Given the description of an element on the screen output the (x, y) to click on. 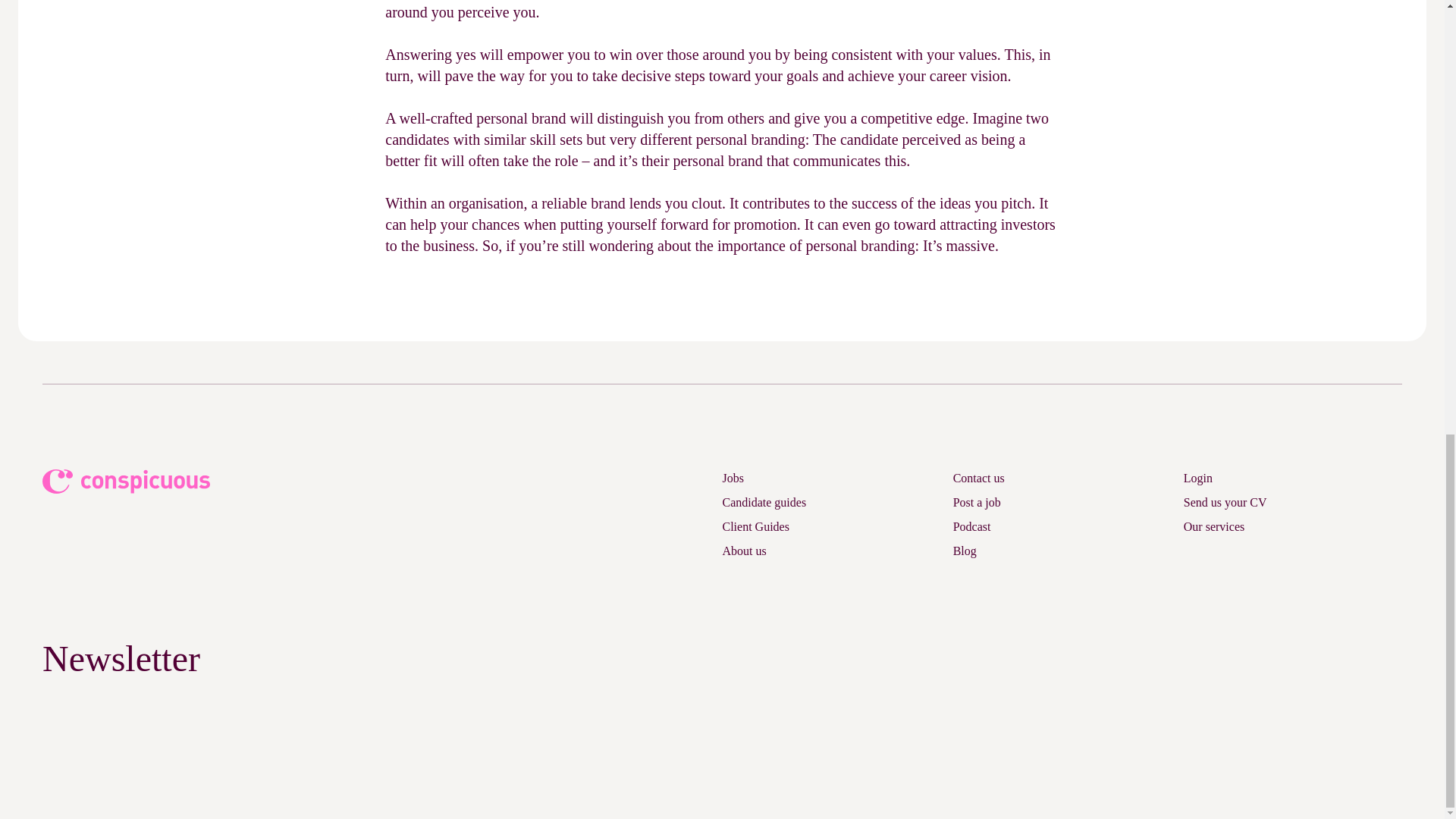
Client Guides (755, 526)
Conspicuous (127, 481)
Candidate guides (764, 502)
Our services (1213, 526)
Send us your CV (1224, 502)
Contact us (978, 477)
Podcast (972, 526)
About us (743, 550)
Jobs (732, 477)
Blog (964, 550)
